Given the description of an element on the screen output the (x, y) to click on. 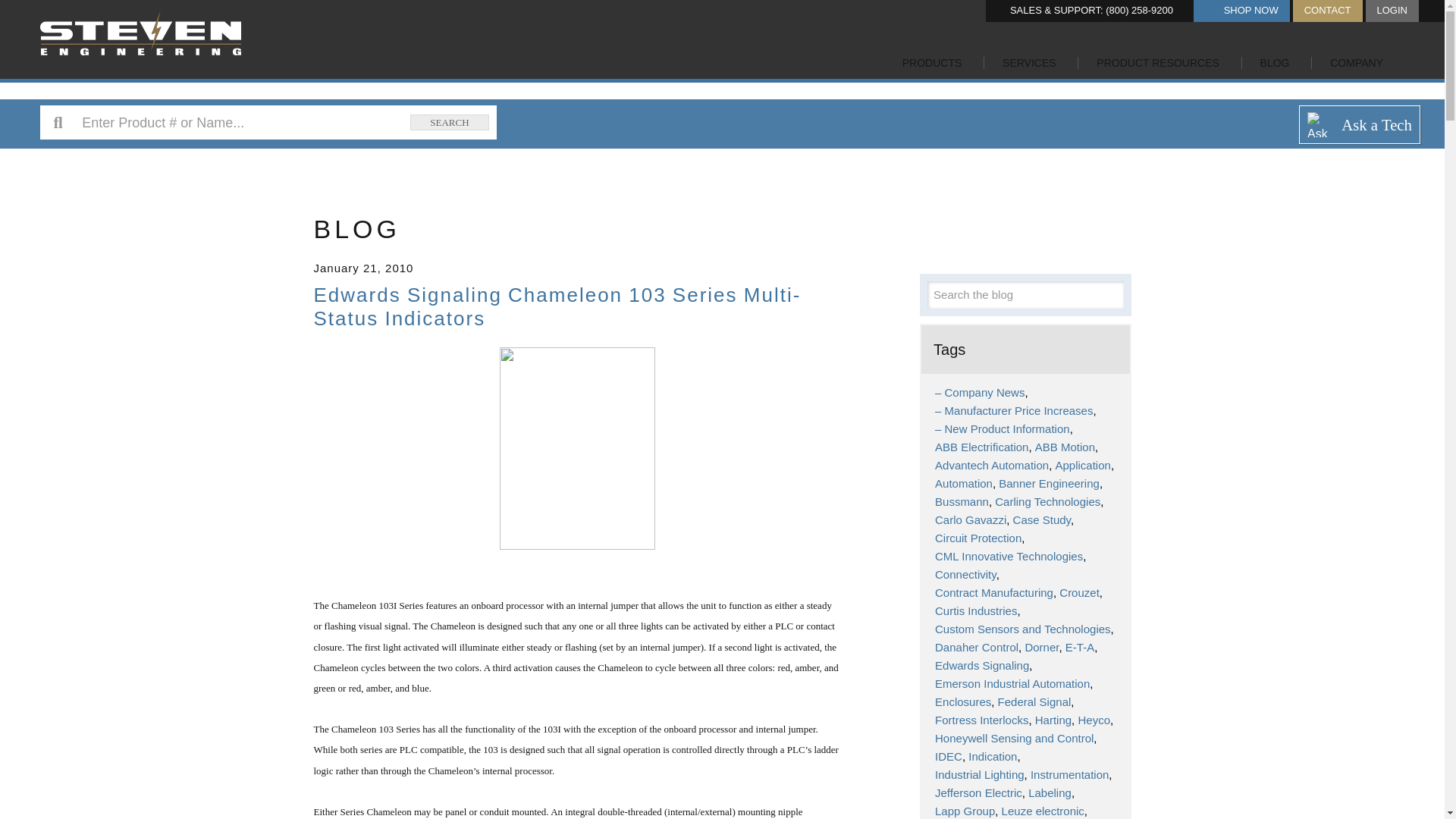
Submit (1108, 294)
ABB Motion (1066, 446)
CONTACT (1327, 11)
Banner Engineering (1050, 482)
Application (1083, 464)
Carlo Gavazzi (971, 519)
ABB Electrification (983, 446)
BLOG (1274, 66)
LOGIN (1391, 11)
CML Innovative Technologies (1010, 555)
